Given the description of an element on the screen output the (x, y) to click on. 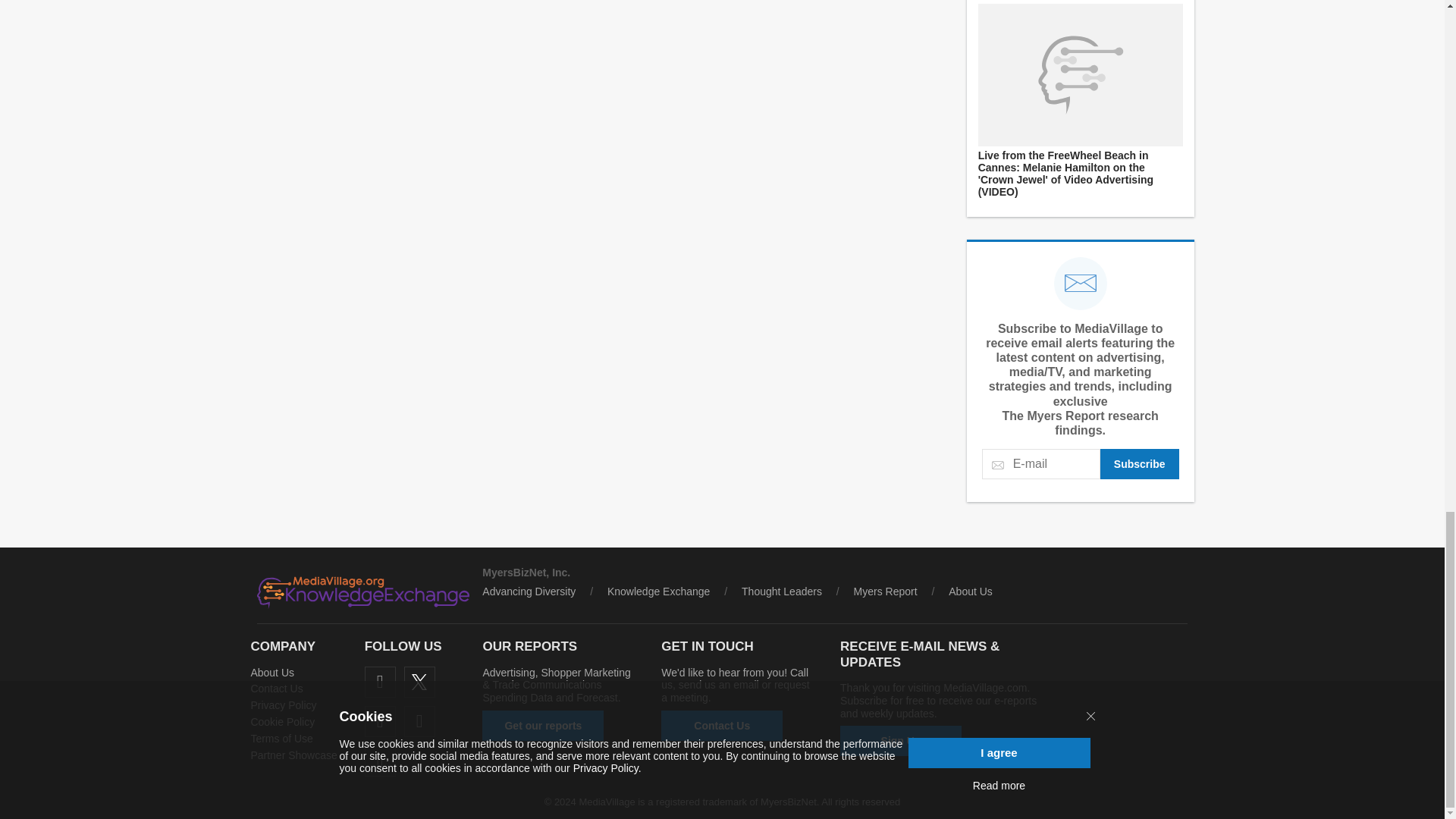
Rss (380, 760)
Follow us on LinkedIn (380, 721)
Follow us on Twitter (419, 681)
Follow us on Facebook (380, 681)
Follow us on Instagram (419, 721)
